Given the description of an element on the screen output the (x, y) to click on. 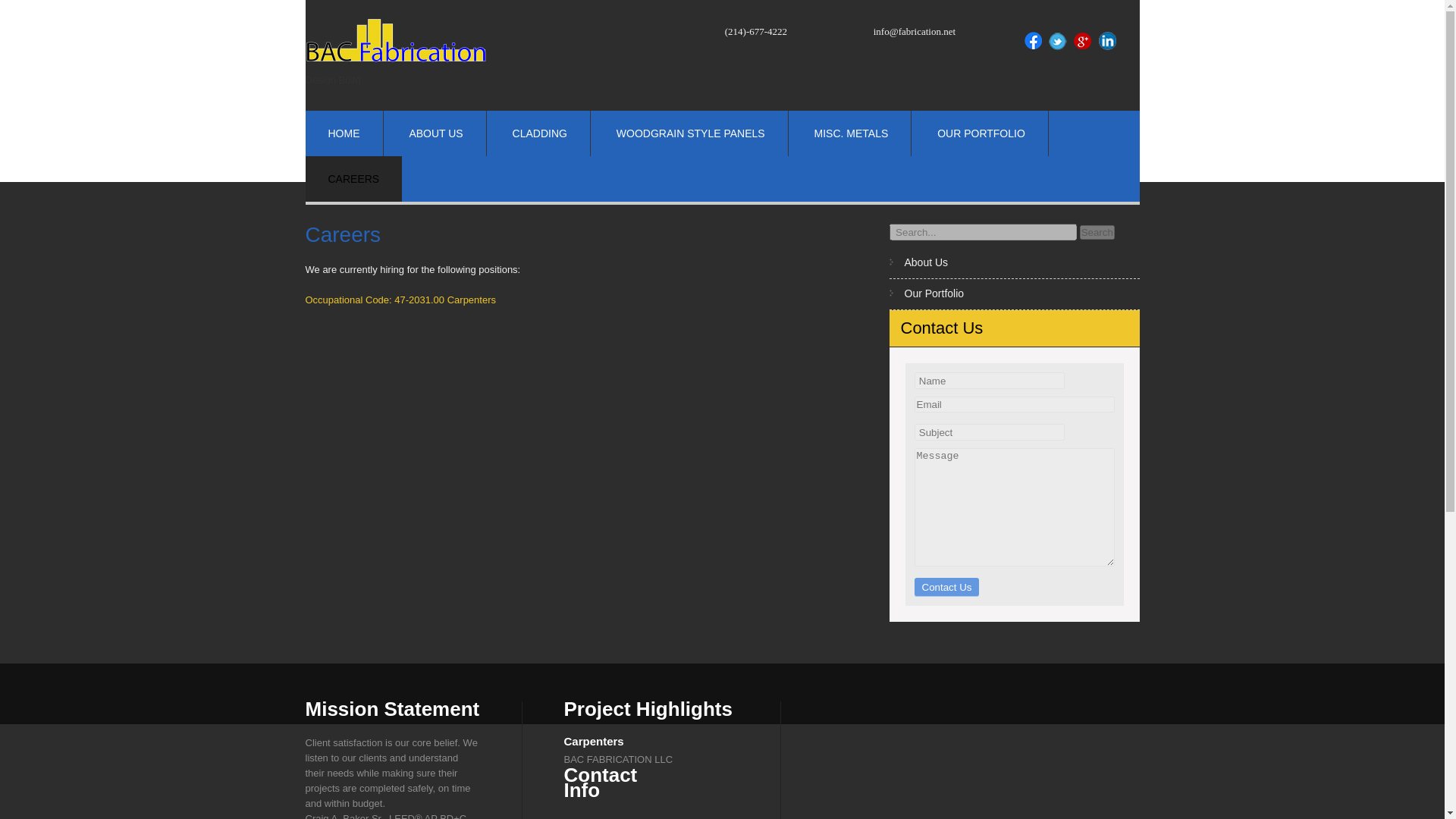
Design Build (395, 86)
Our Portfolio (933, 293)
Search (1097, 231)
google-plus (1082, 40)
facebook (1032, 40)
ABOUT US (435, 133)
Search (1097, 231)
linkedin (1106, 40)
OUR PORTFOLIO (981, 133)
Contact Us (946, 587)
